Given the description of an element on the screen output the (x, y) to click on. 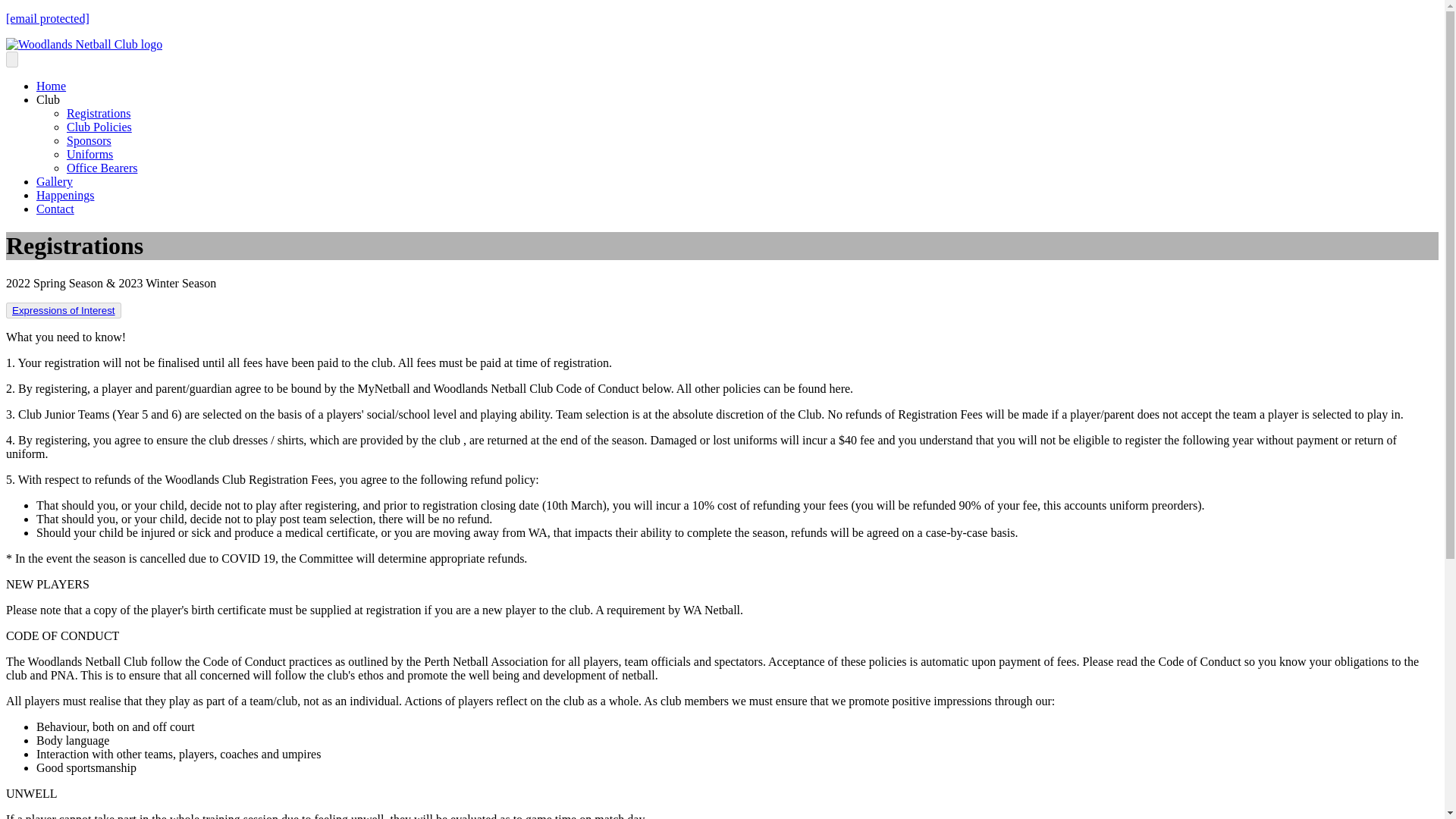
Expressions of Interest (62, 310)
Expressions of Interest (63, 310)
Sponsors (89, 140)
Office Bearers (101, 167)
Happenings (65, 195)
Contact (55, 208)
Uniforms (89, 154)
Gallery (54, 181)
Home (50, 85)
Club (47, 99)
Club Policies (99, 126)
Registrations (98, 113)
